Given the description of an element on the screen output the (x, y) to click on. 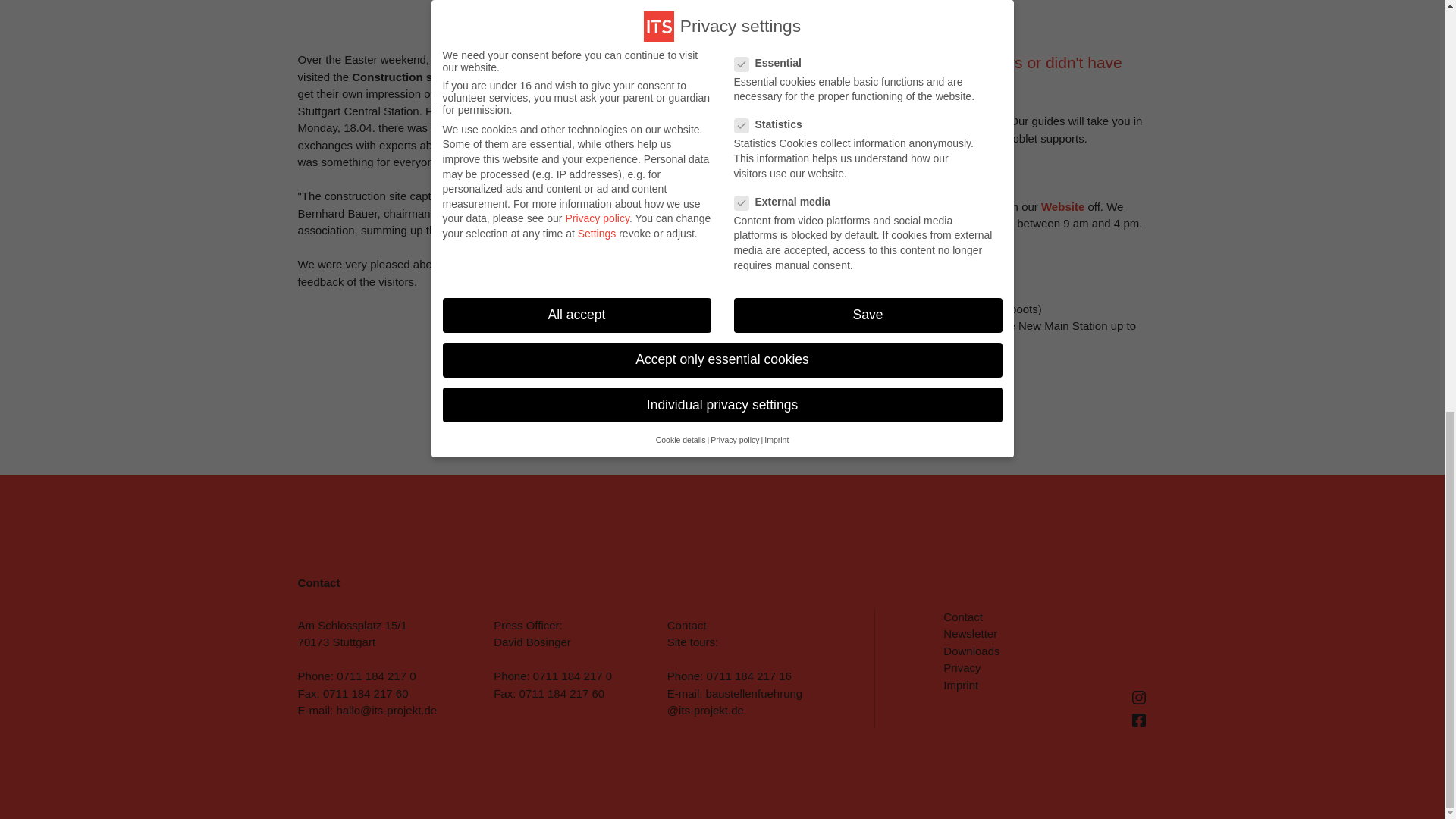
Contact (962, 616)
Website (1062, 205)
Downloads (970, 650)
Imprint (960, 684)
Newsletter (970, 633)
Privacy (961, 667)
